Given the description of an element on the screen output the (x, y) to click on. 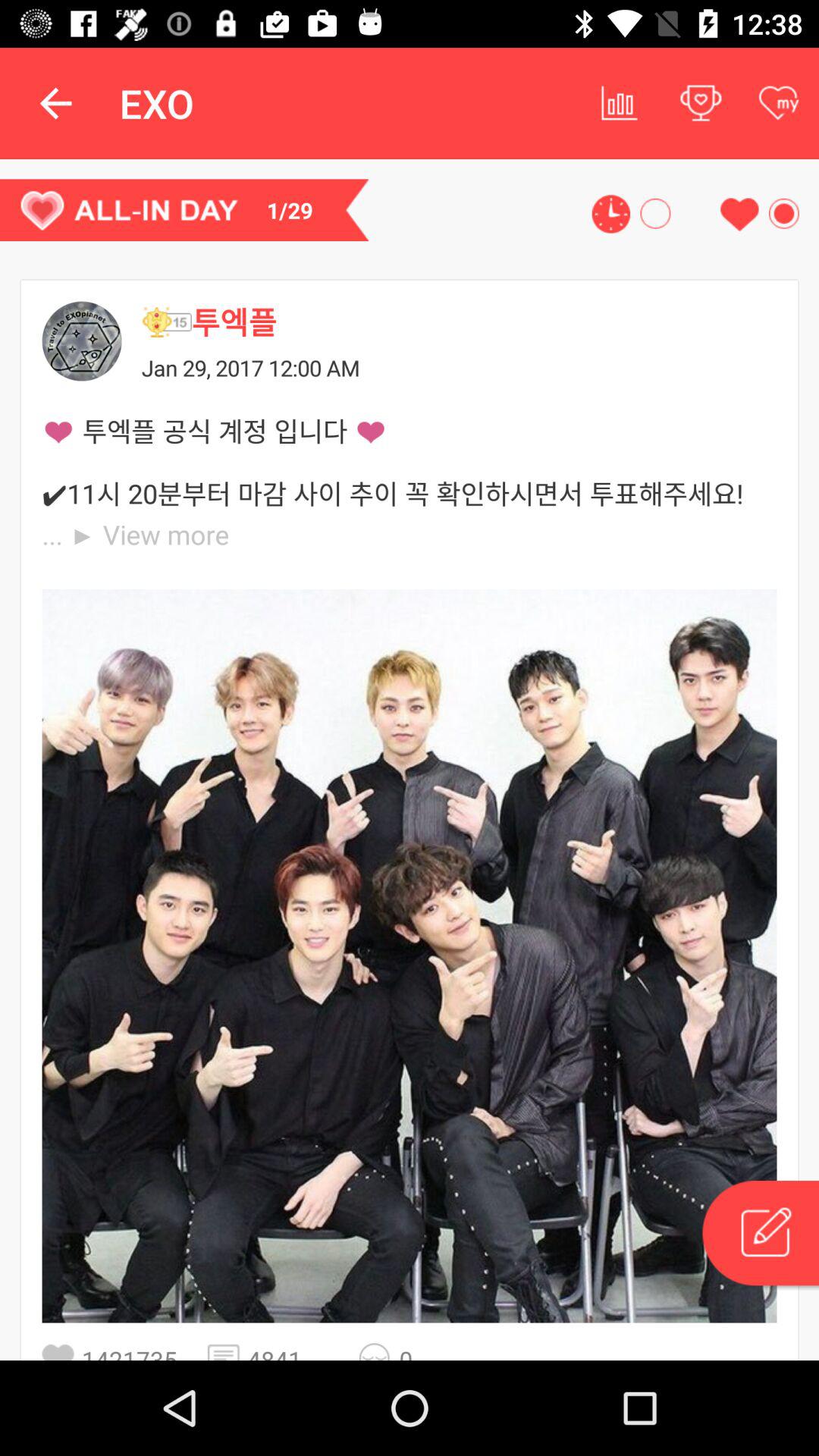
press item to the left of 1421735 icon (61, 1351)
